Given the description of an element on the screen output the (x, y) to click on. 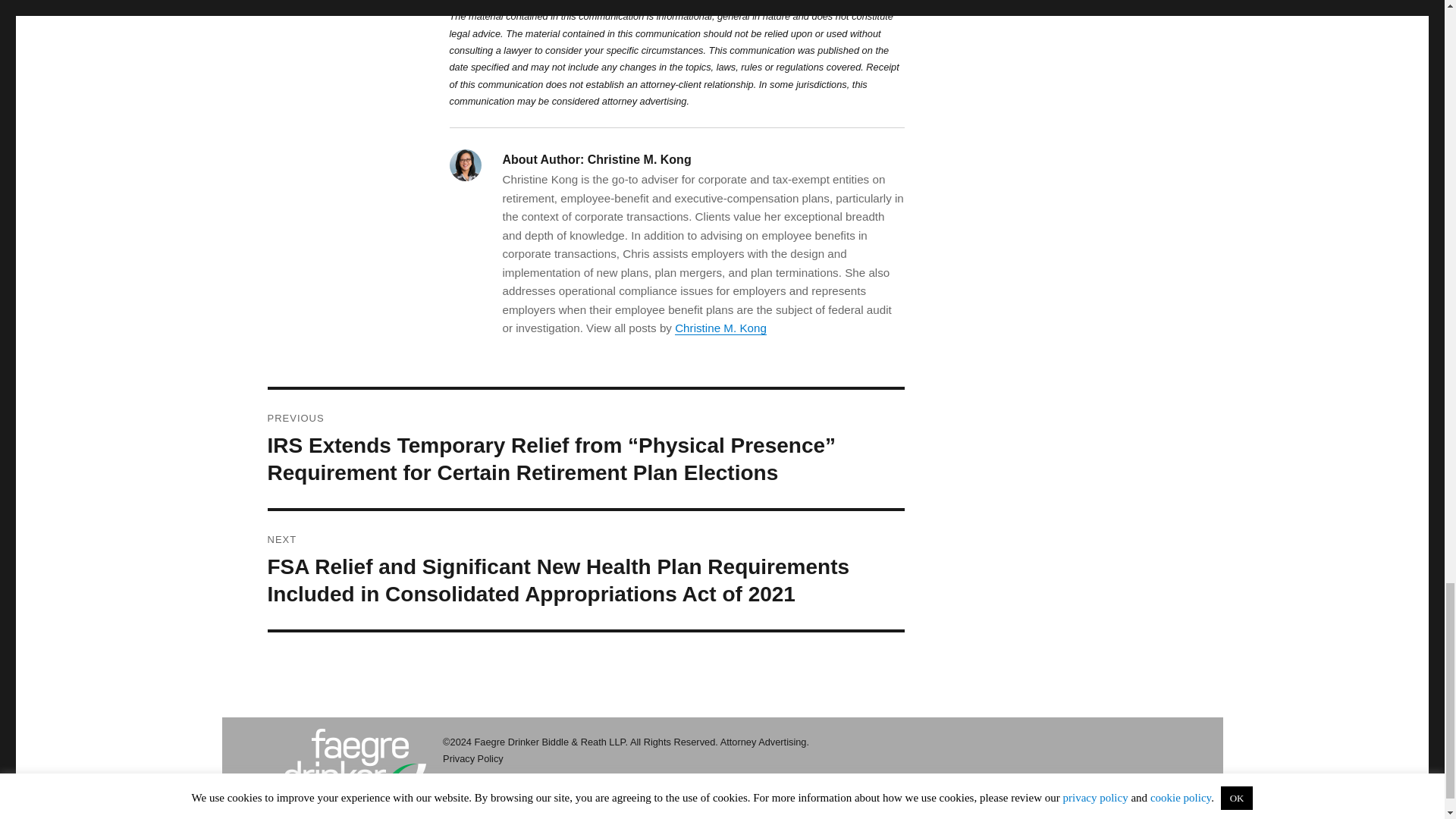
Posts by Christine M. Kong (721, 327)
Christine M. Kong (721, 327)
